Given the description of an element on the screen output the (x, y) to click on. 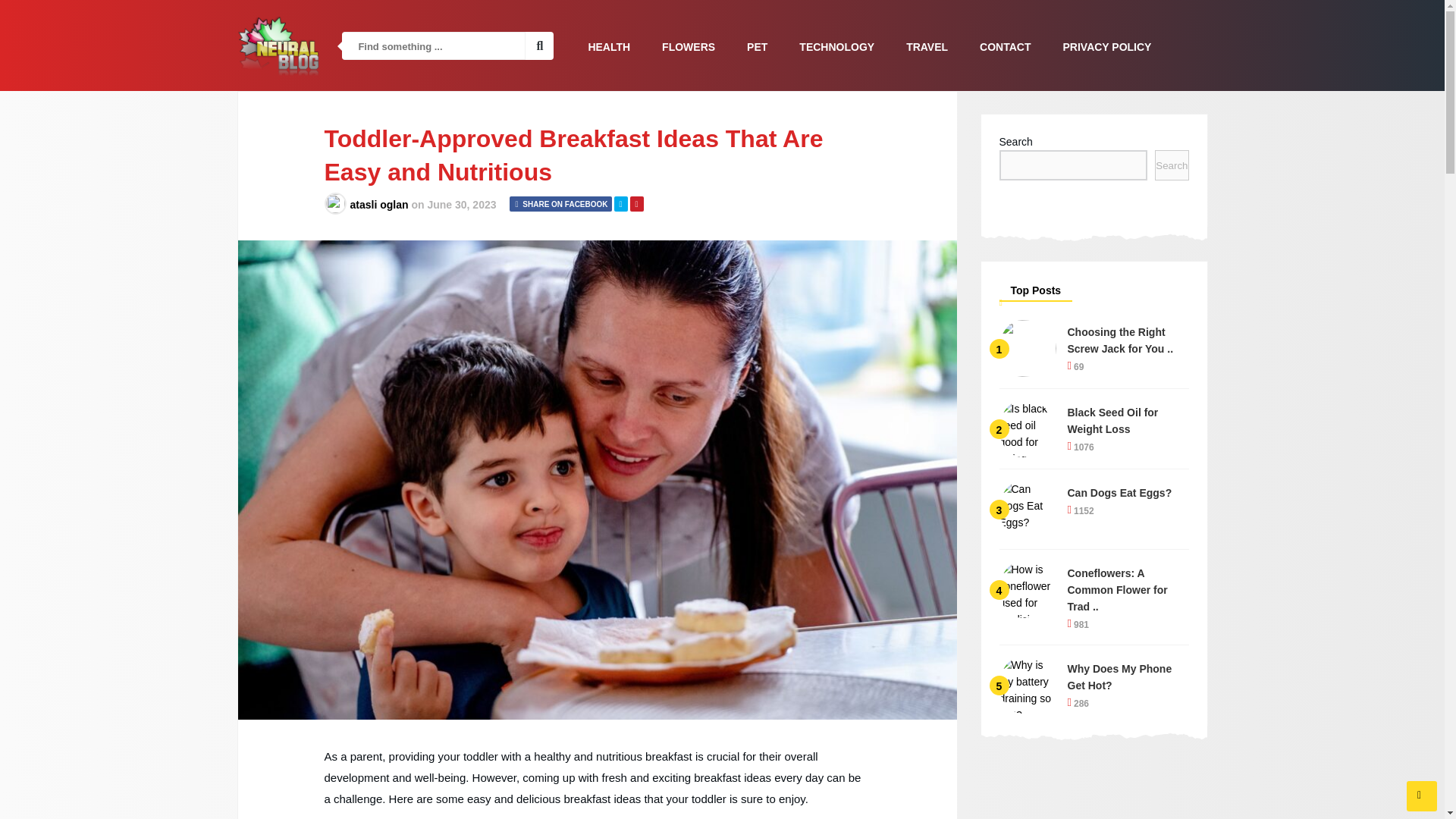
Search (1171, 164)
Posts by atasli oglan (379, 204)
atasli oglan (379, 204)
PET (756, 46)
Why Does My Phone Get Hot? (1128, 676)
CONTACT (1005, 46)
FLOWERS (688, 46)
Can Dogs Eat Eggs? (1128, 492)
Black Seed Oil for Weight Loss (1128, 420)
Coneflowers: A Common Flower for Trad .. (1128, 590)
TRAVEL (927, 46)
Choosing the Right Screw Jack for You .. (1128, 340)
HEALTH (609, 46)
PRIVACY POLICY (1106, 46)
TECHNOLOGY (836, 46)
